Given the description of an element on the screen output the (x, y) to click on. 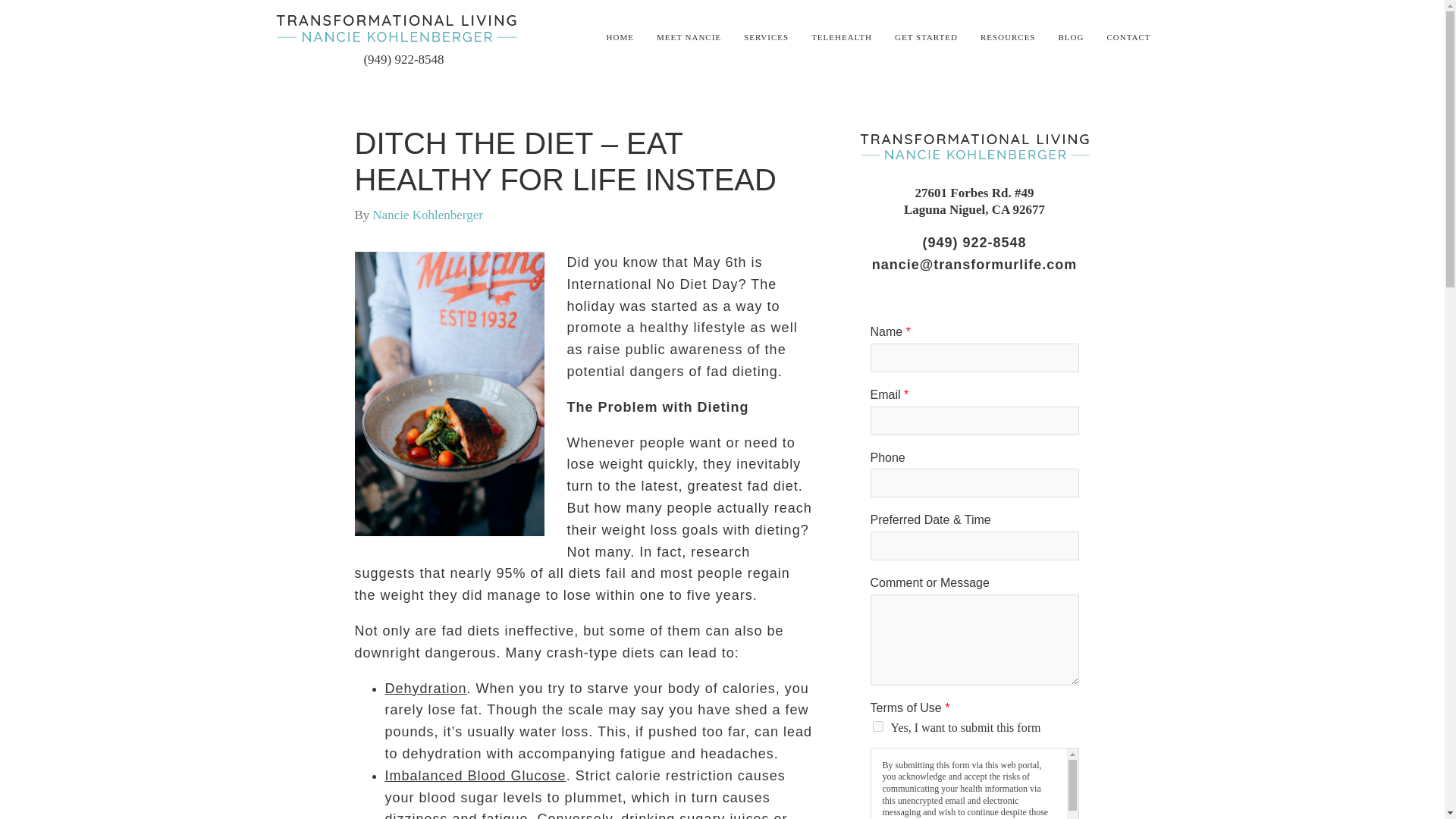
SERVICES (766, 36)
RESOURCES (1007, 36)
BLOG (1070, 36)
GET STARTED (926, 36)
Yes, I want to submit this form (877, 726)
CONTACT (1128, 36)
HOME (620, 36)
MEET NANCIE (688, 36)
Posts by Nancie Kohlenberger (427, 214)
TELEHEALTH (841, 36)
